Given the description of an element on the screen output the (x, y) to click on. 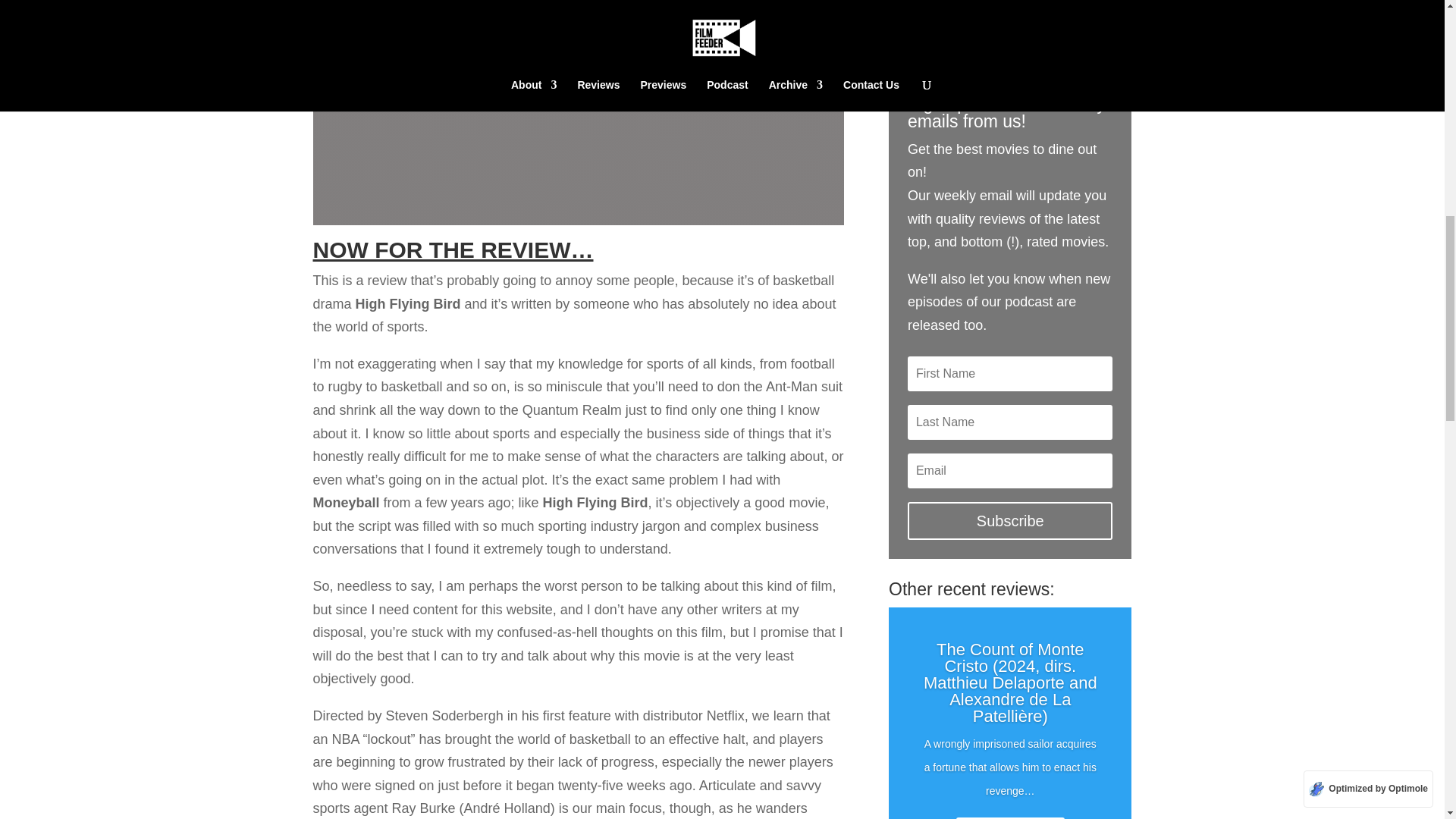
Read More (1010, 818)
SUPPORT US ON PATREON (1009, 27)
Subscribe (1009, 520)
